Given the description of an element on the screen output the (x, y) to click on. 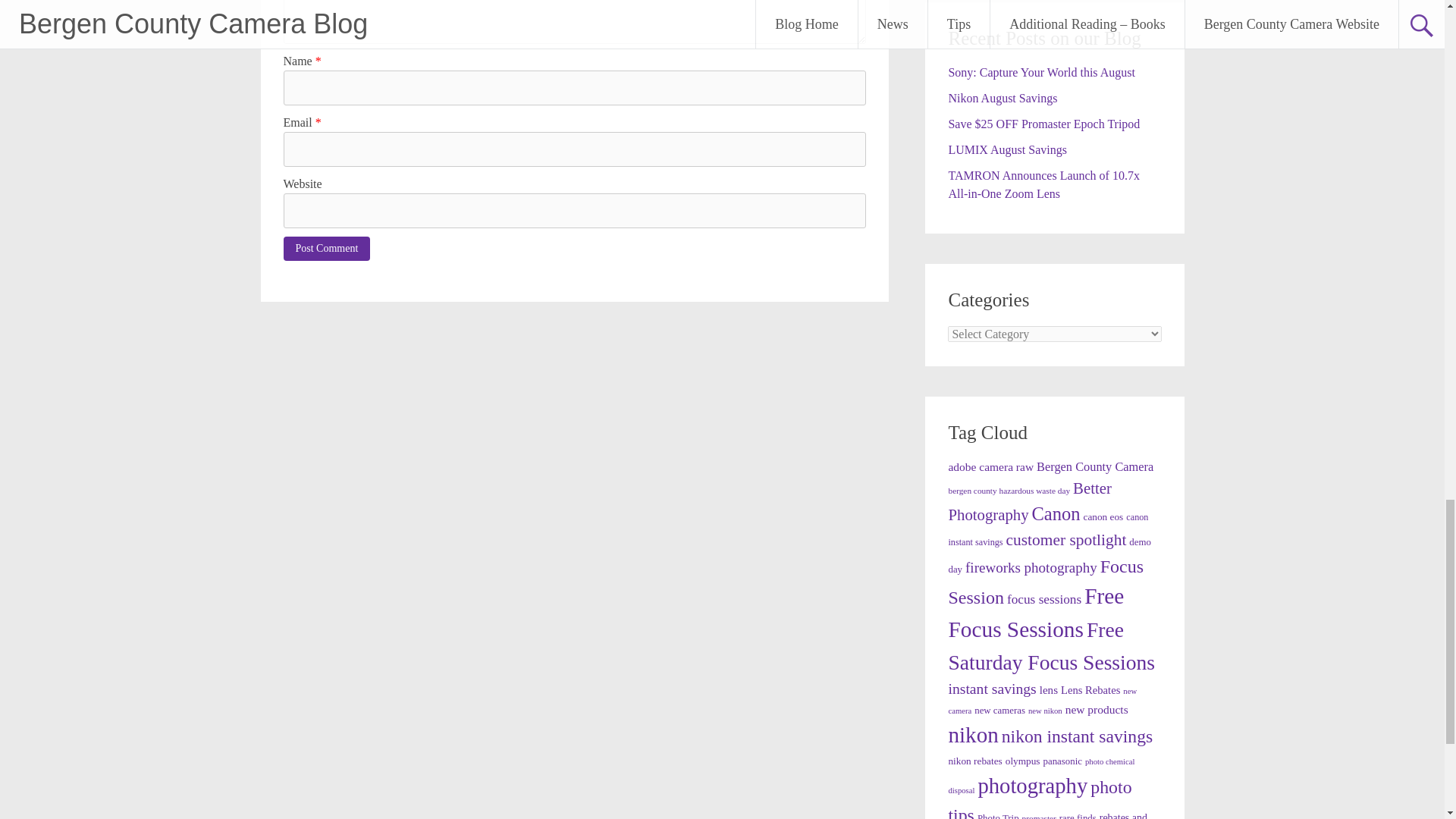
Bergen County Camera (1094, 466)
Post Comment (327, 248)
adobe camera raw (990, 466)
Post Comment (327, 248)
LUMIX August Savings (1006, 149)
Nikon August Savings (1002, 97)
bergen county hazardous waste day (1008, 490)
TAMRON Announces Launch of 10.7x All-in-One Zoom Lens (1042, 183)
Sony: Capture Your World this August (1040, 72)
